Given the description of an element on the screen output the (x, y) to click on. 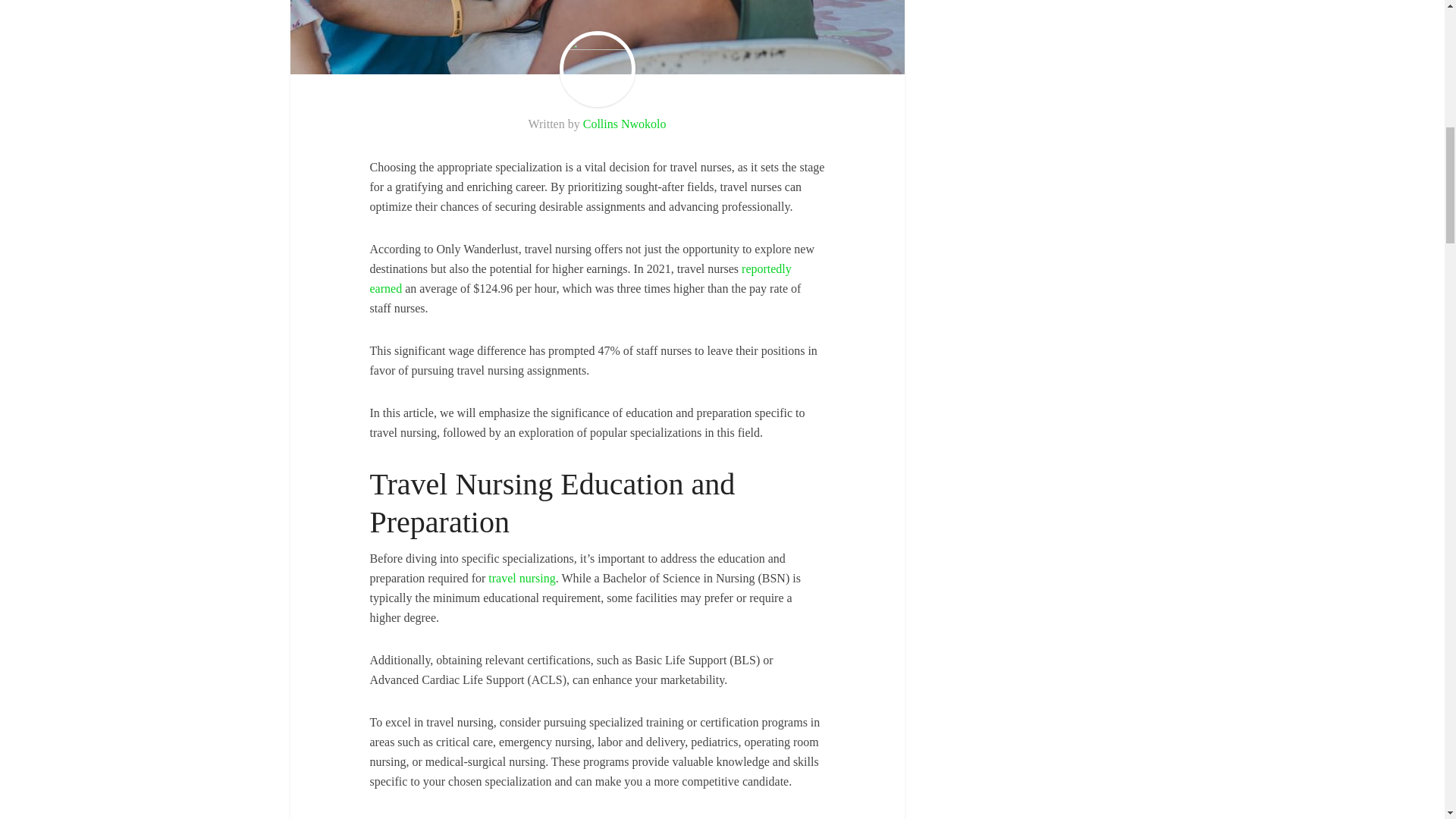
travel nursing (520, 577)
reportedly earned (580, 278)
Collins Nwokolo (624, 123)
